Given the description of an element on the screen output the (x, y) to click on. 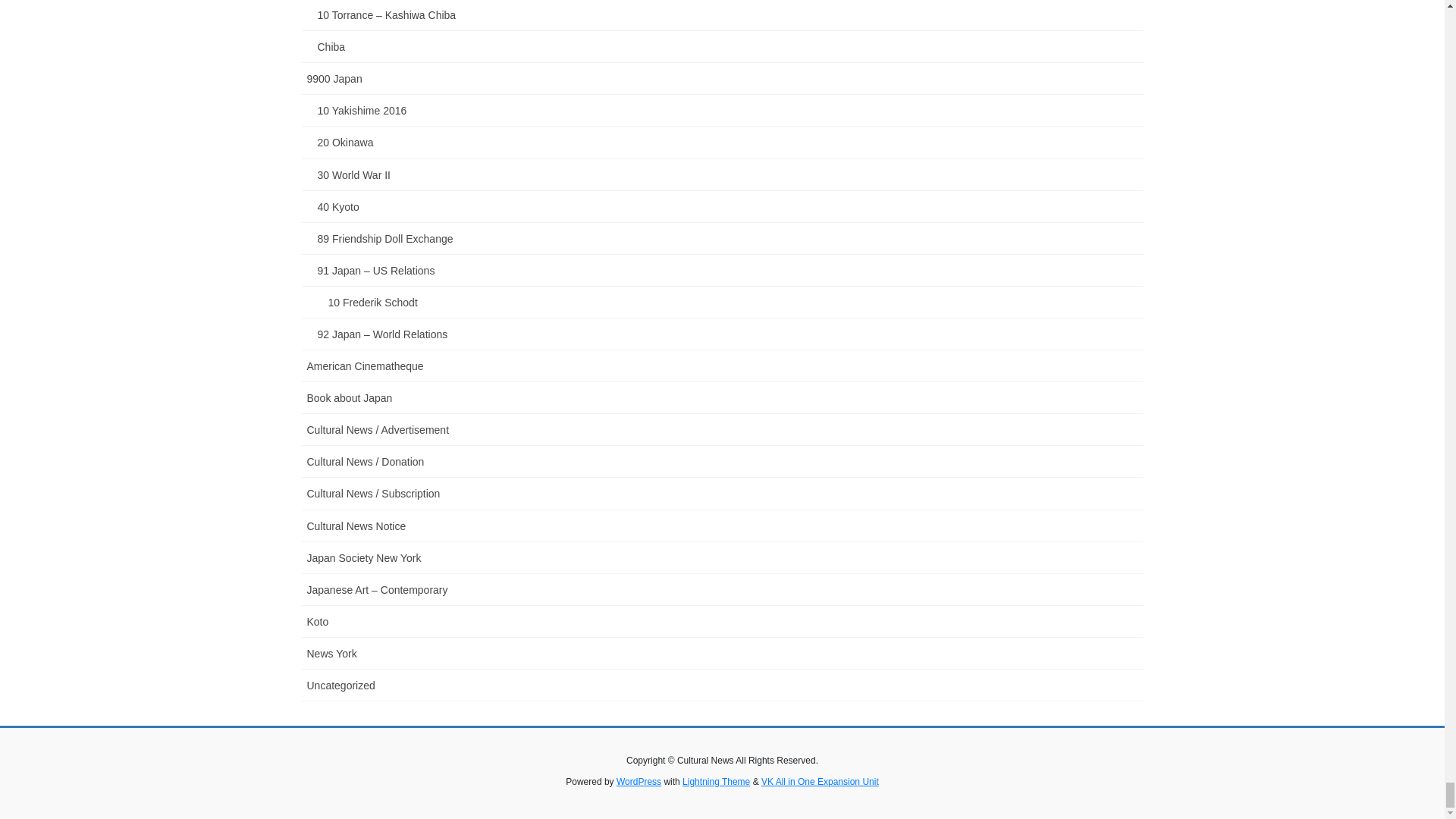
Free WordPress Theme Lightning (715, 781)
